Given the description of an element on the screen output the (x, y) to click on. 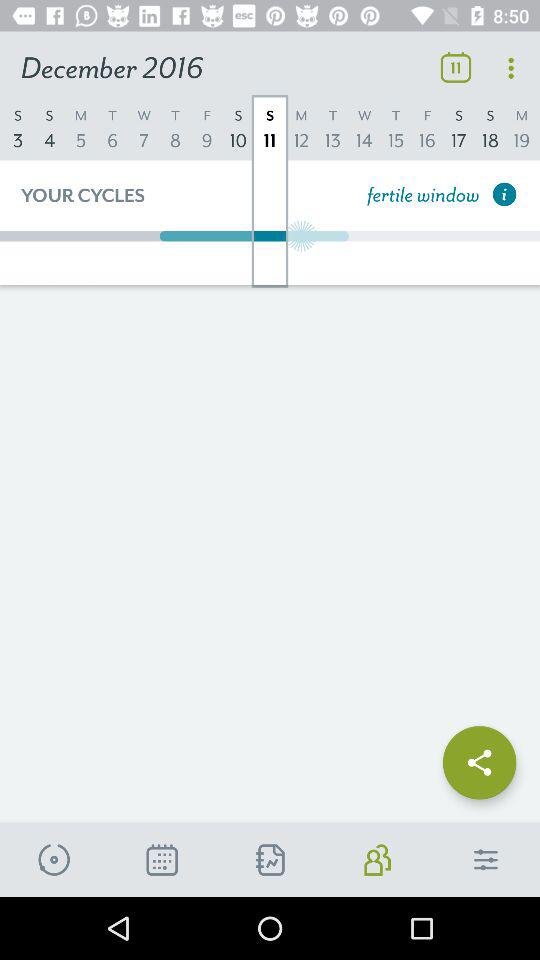
go to customize (486, 860)
